Given the description of an element on the screen output the (x, y) to click on. 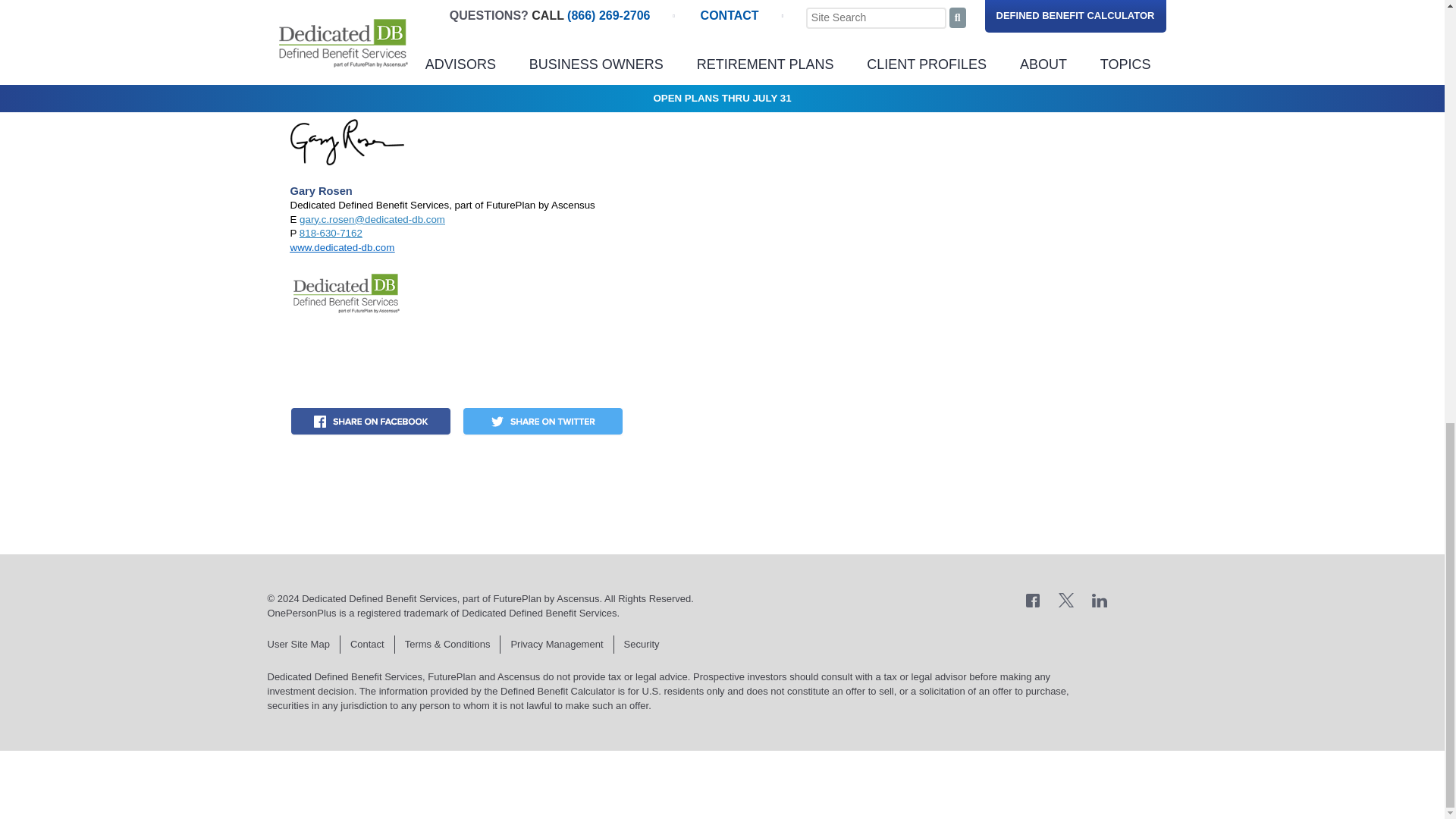
Connect with us on LinkedIn (1099, 598)
Tweet us on Twitter (1066, 598)
Join us on Facebook (1033, 598)
